Given the description of an element on the screen output the (x, y) to click on. 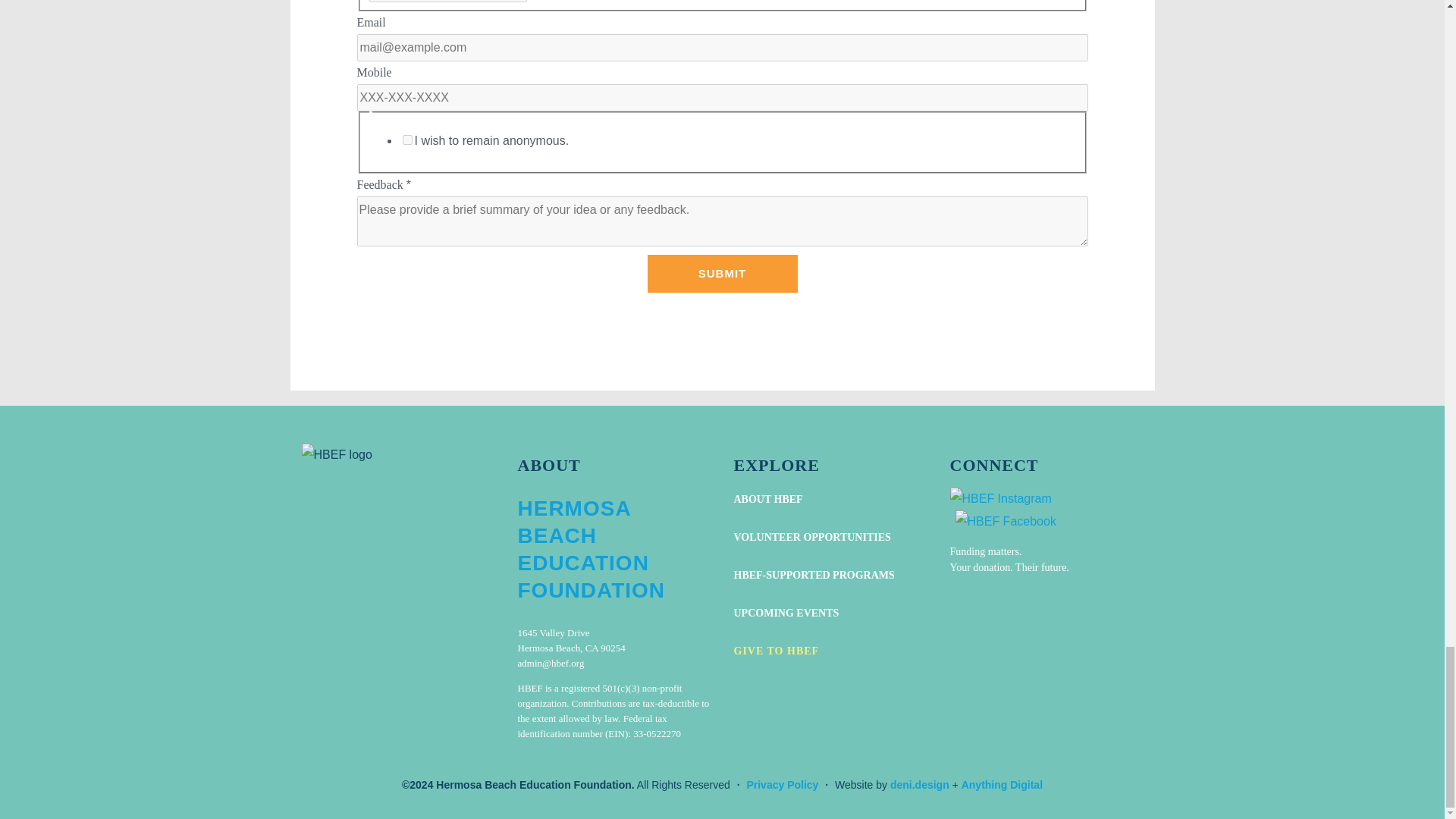
I wish to remain anonymous. (406, 139)
Follow HBEF on Facebook (1006, 521)
Follow HBEF on Instagram (1000, 498)
Email HBEF (549, 663)
